Given the description of an element on the screen output the (x, y) to click on. 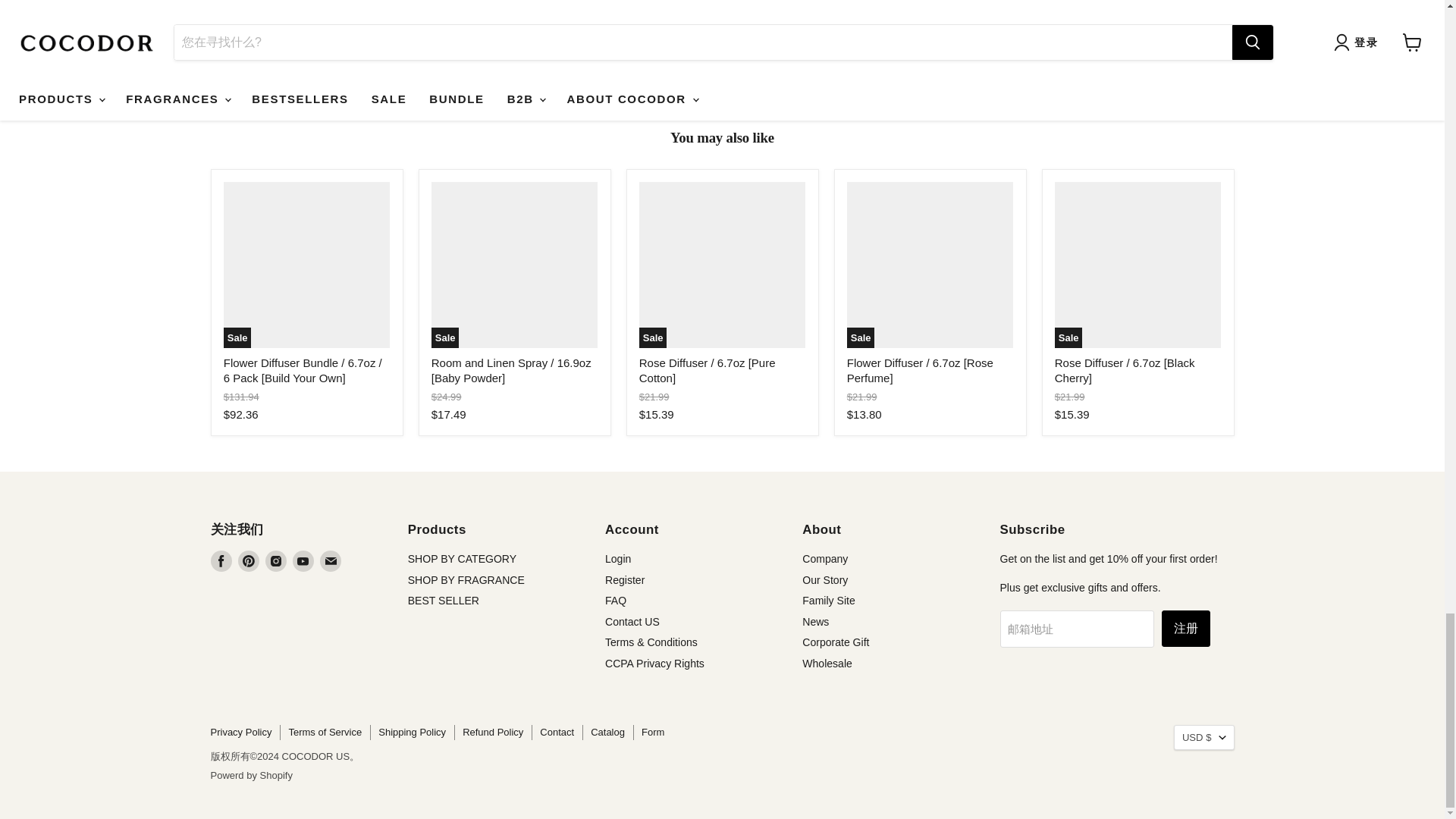
Facebook (221, 560)
Pinterest (248, 560)
Instagram (275, 560)
Youtube (303, 560)
